Given the description of an element on the screen output the (x, y) to click on. 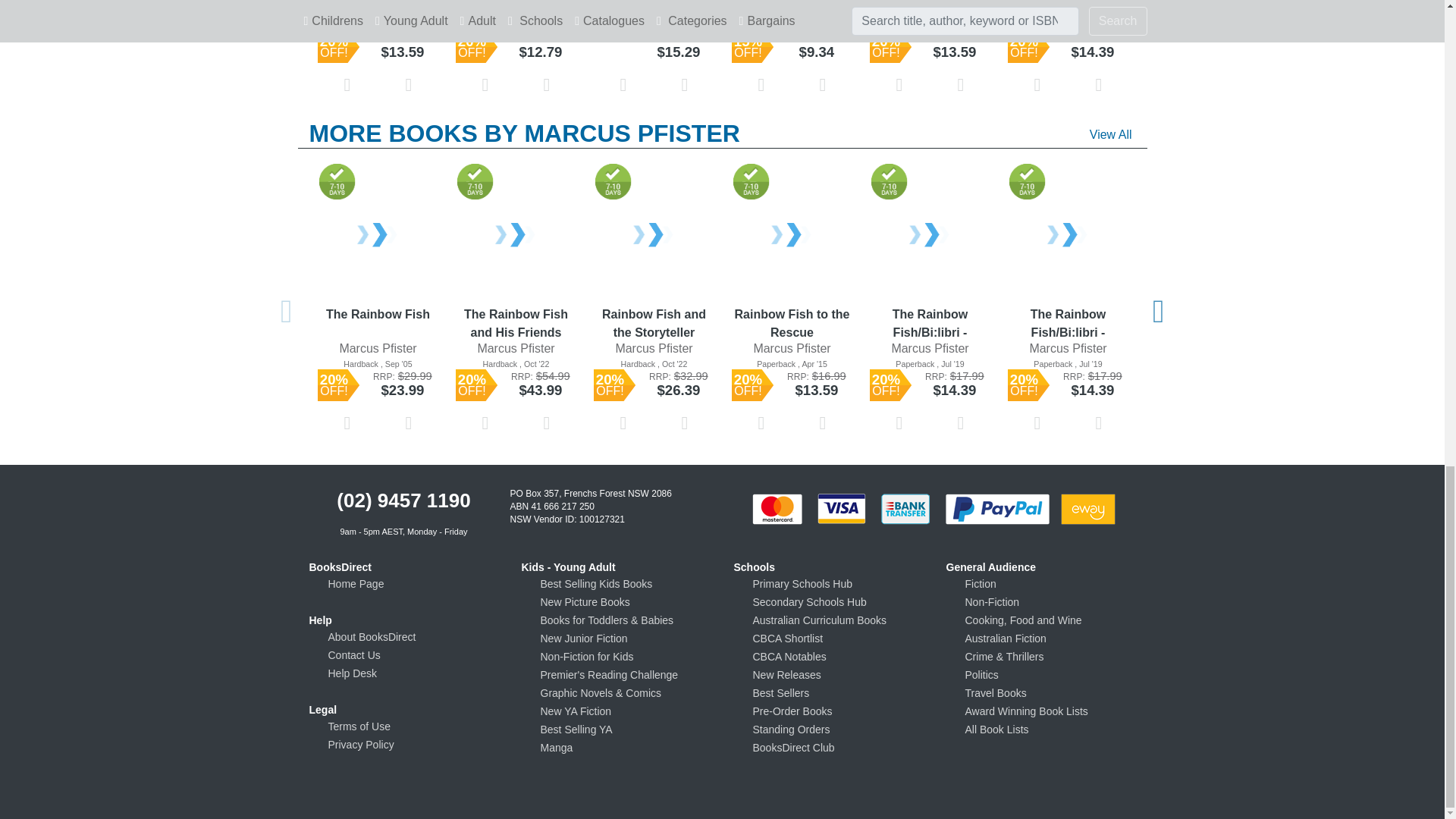
View other books by author David McKee (377, 10)
Board book (378, 24)
Elmer: Board Book (378, 0)
Giles Andreae (516, 9)
Board book (516, 24)
There's A House Inside My Mummy Board Book (516, 0)
David McKee (378, 9)
View other books by author Giles Andreae (515, 10)
